Given the description of an element on the screen output the (x, y) to click on. 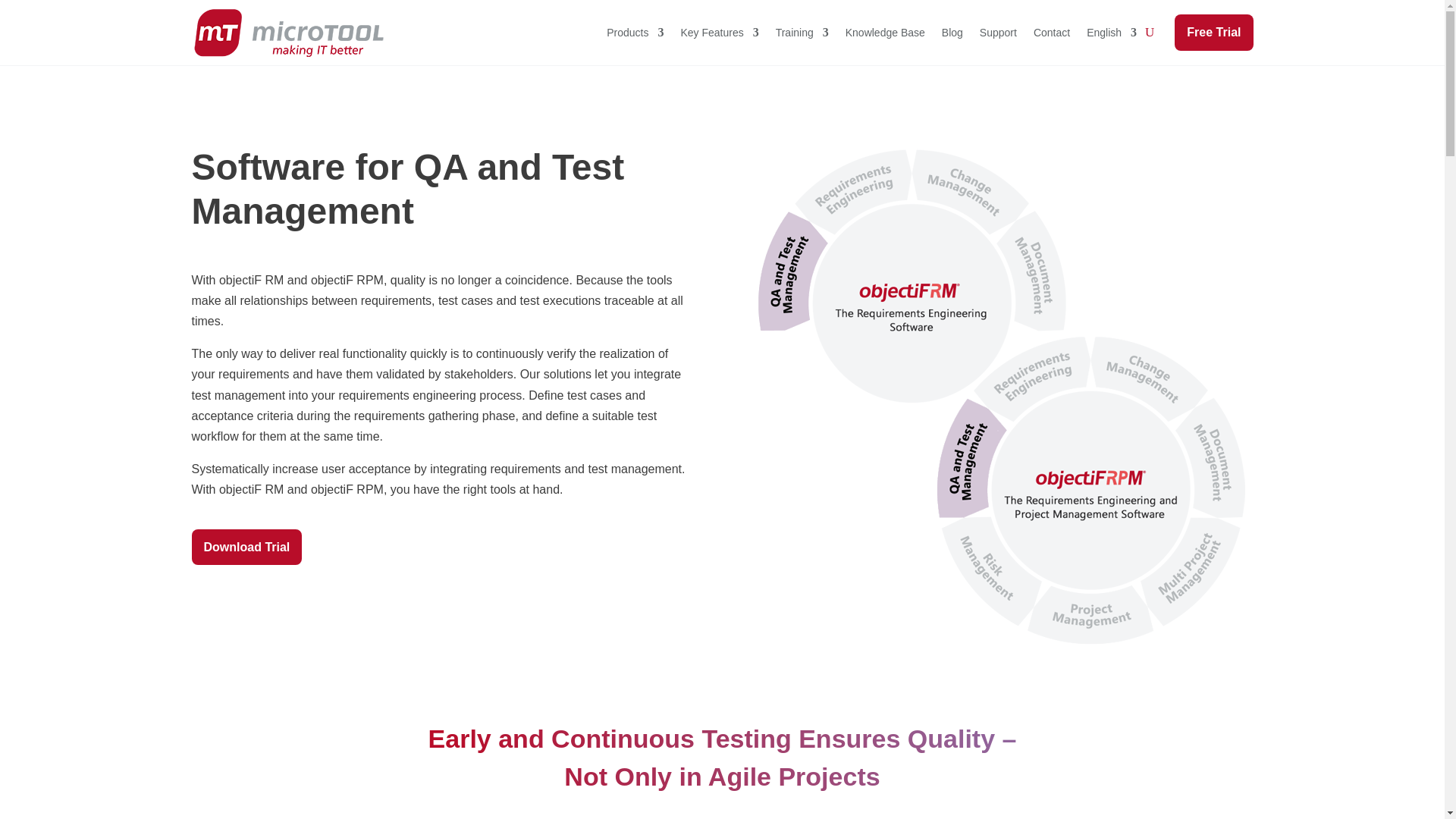
English (1111, 32)
Blog (952, 32)
Training (802, 32)
Key Features (718, 32)
Knowledge Base (884, 32)
Products (635, 32)
Support (997, 32)
English (1111, 32)
Contact (1051, 32)
